Given the description of an element on the screen output the (x, y) to click on. 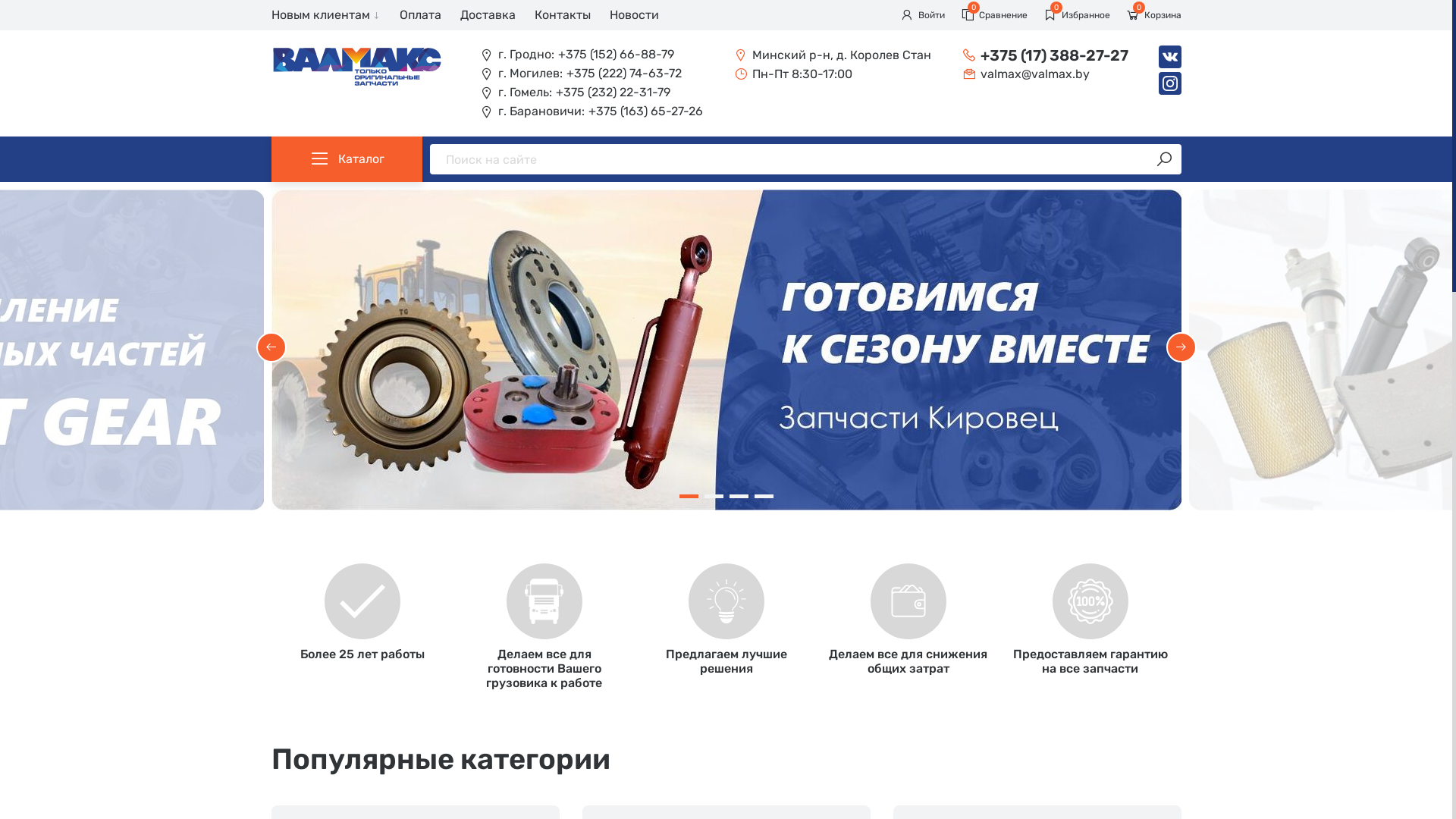
+375 (17) 388-27-27 Element type: text (1044, 54)
VK Element type: hover (1169, 56)
Instagram Element type: hover (1169, 83)
valmax@valmax.by Element type: text (1044, 73)
